Given the description of an element on the screen output the (x, y) to click on. 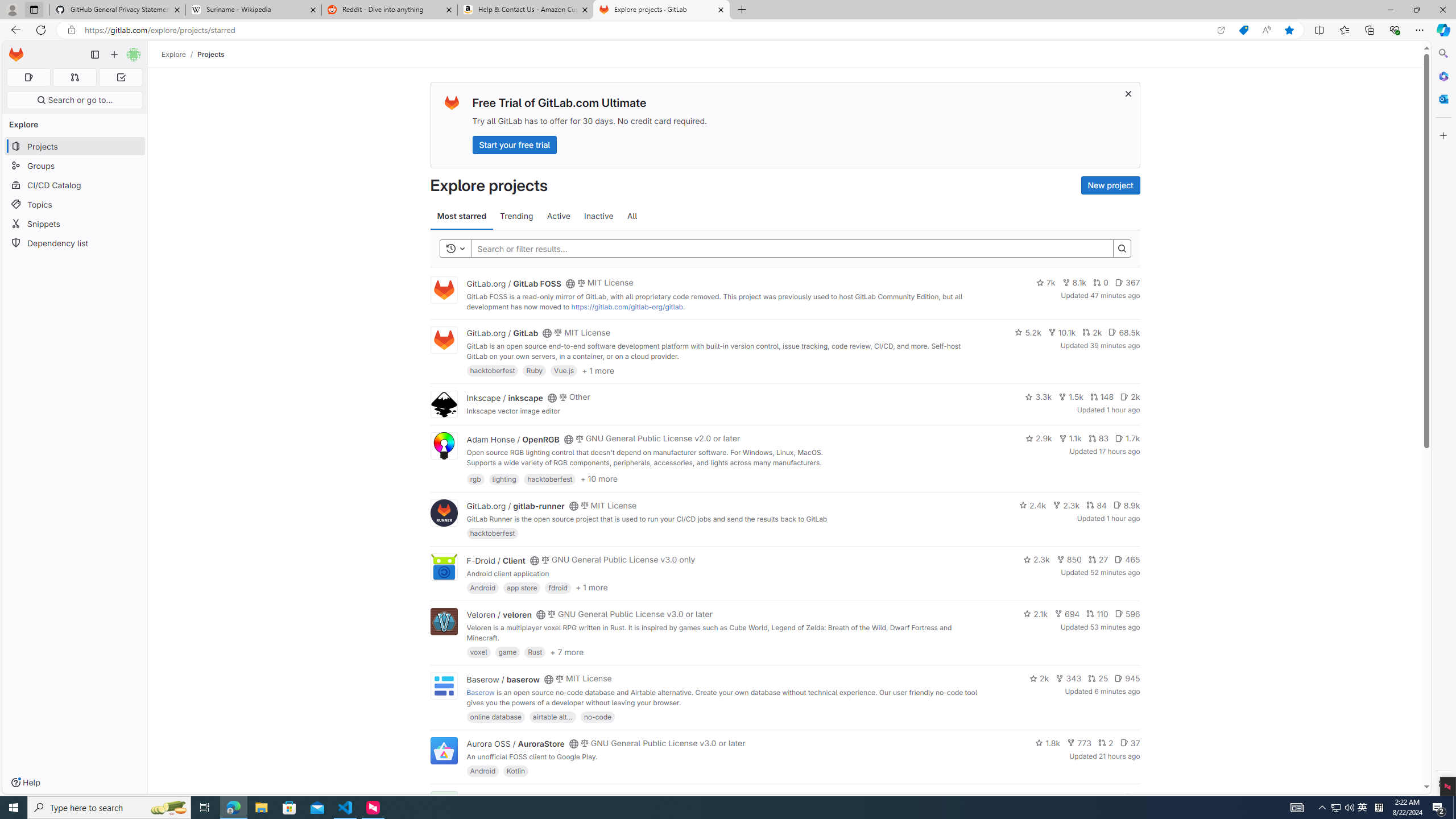
2 (1105, 742)
2.1k (1035, 613)
Groups (74, 165)
37 (1129, 742)
367 (1127, 282)
All (632, 216)
To-Do list 0 (120, 76)
Explore (173, 53)
Dependency list (74, 242)
1.1k (1069, 438)
GitLab.org / GitLab FOSS (513, 283)
83 (1098, 438)
GitLab.org / gitlab-runner (514, 506)
